Given the description of an element on the screen output the (x, y) to click on. 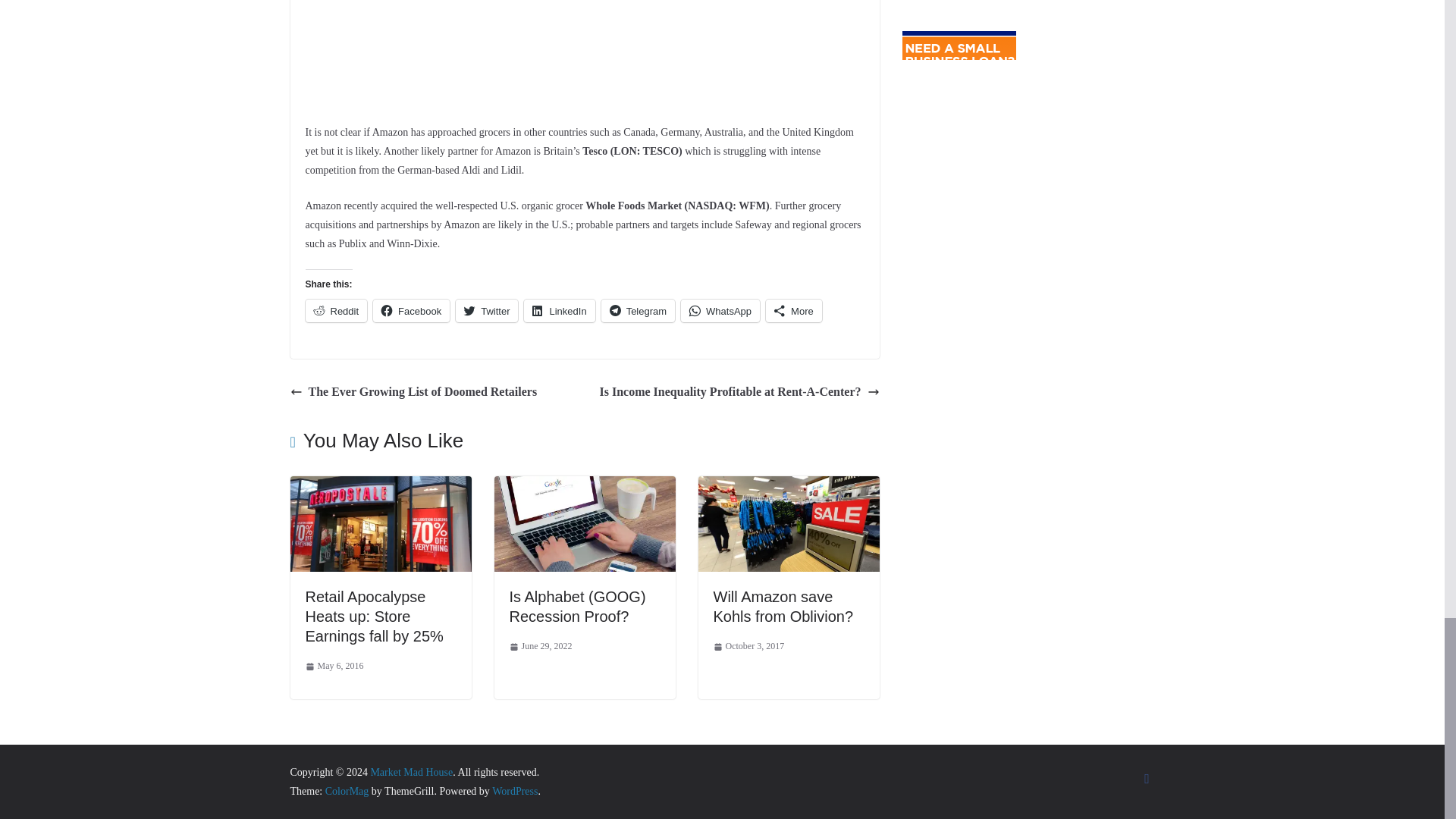
Click to share on WhatsApp (720, 309)
Click to share on LinkedIn (559, 309)
LinkedIn (559, 309)
Reddit (335, 309)
Facebook (410, 309)
Click to share on Telegram (638, 309)
Twitter (486, 309)
Click to share on Facebook (410, 309)
9:54 pm (333, 666)
Click to share on Twitter (486, 309)
Click to share on Reddit (335, 309)
